Given the description of an element on the screen output the (x, y) to click on. 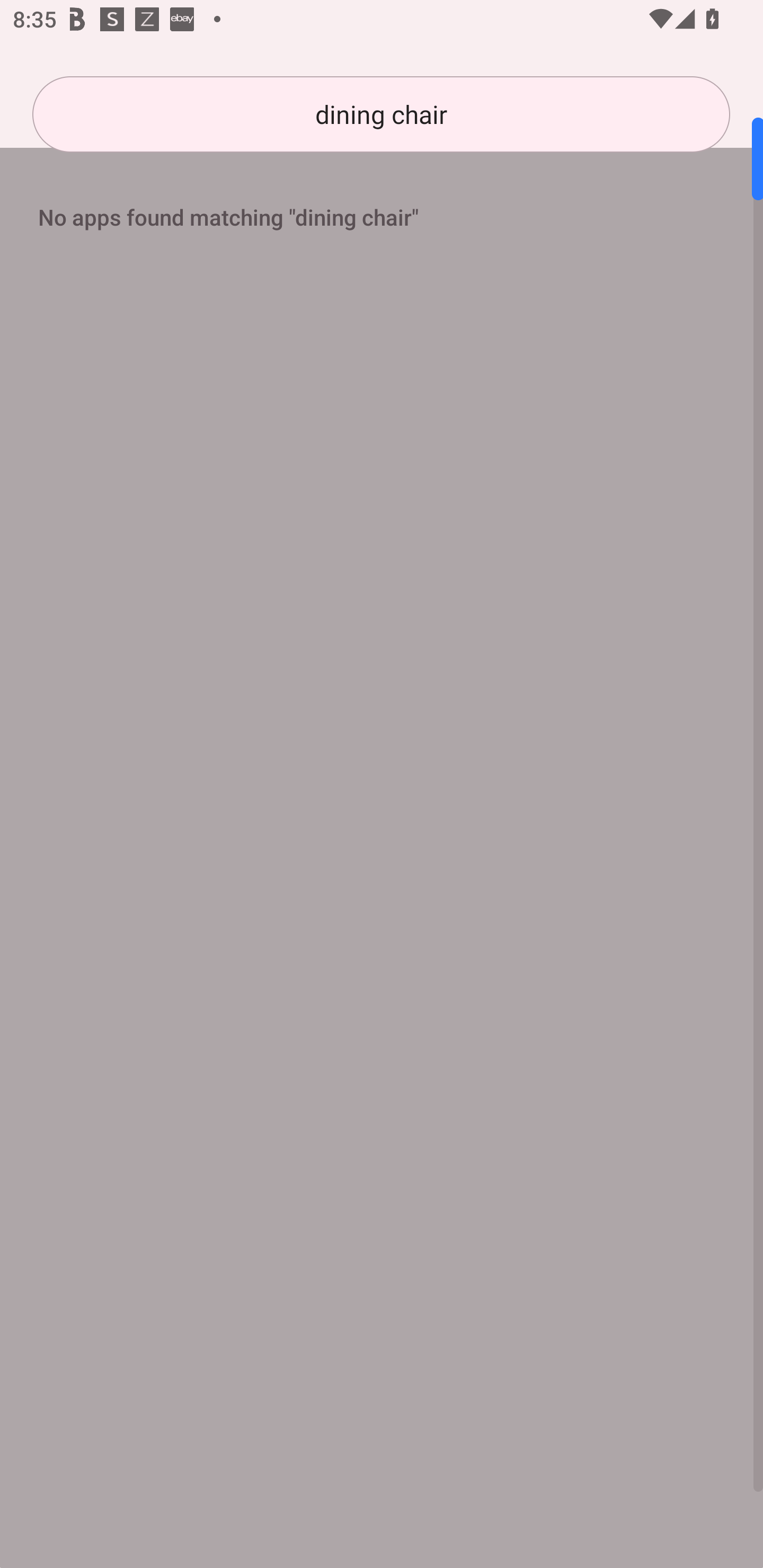
dining chair (381, 114)
